Given the description of an element on the screen output the (x, y) to click on. 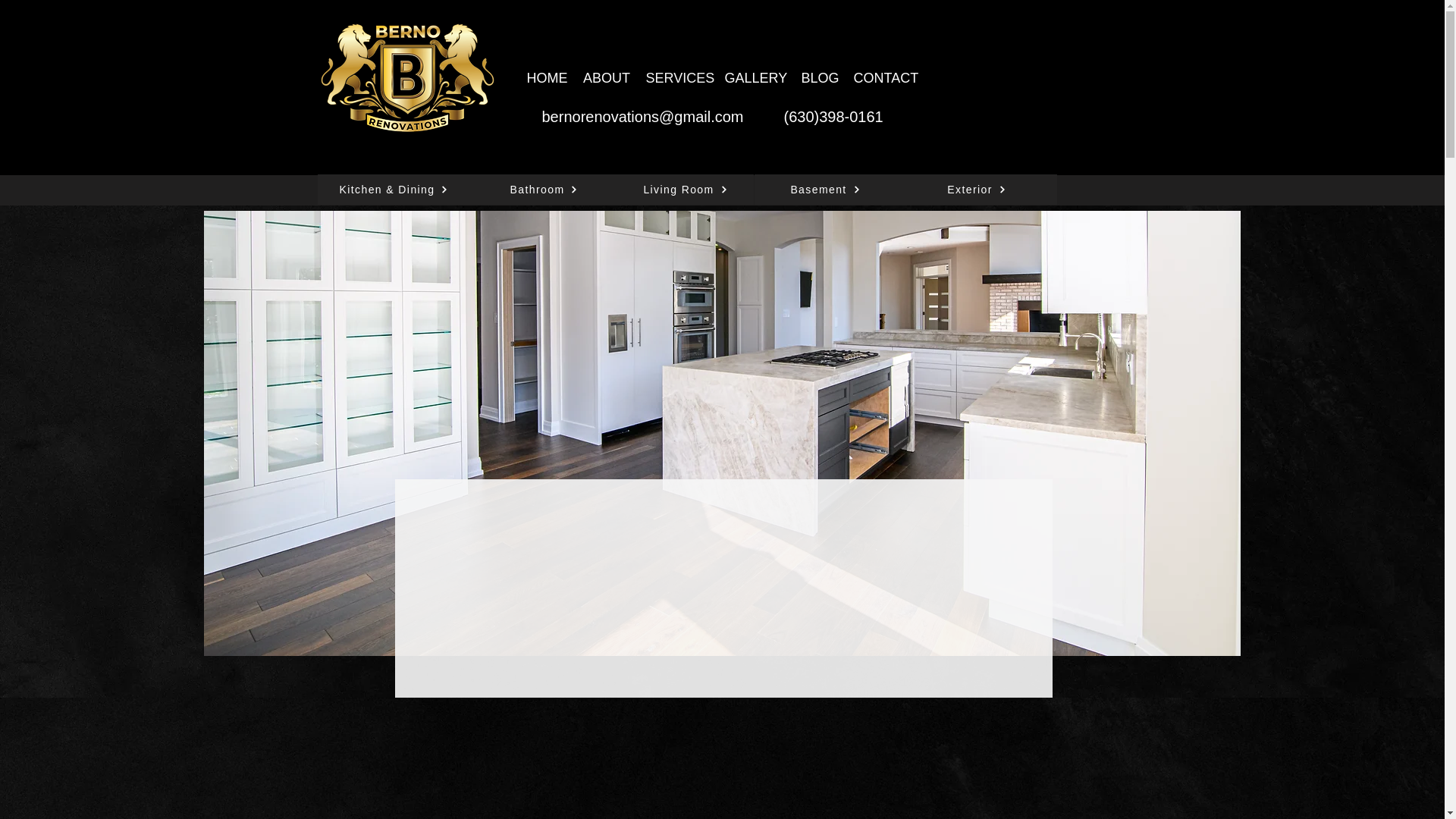
BLOG (819, 78)
Living Room (684, 189)
ABOUT (606, 78)
Exterior (976, 189)
Basement (825, 189)
HOME (546, 78)
SERVICES (678, 78)
CONTACT (885, 78)
Bathroom (543, 189)
